Given the description of an element on the screen output the (x, y) to click on. 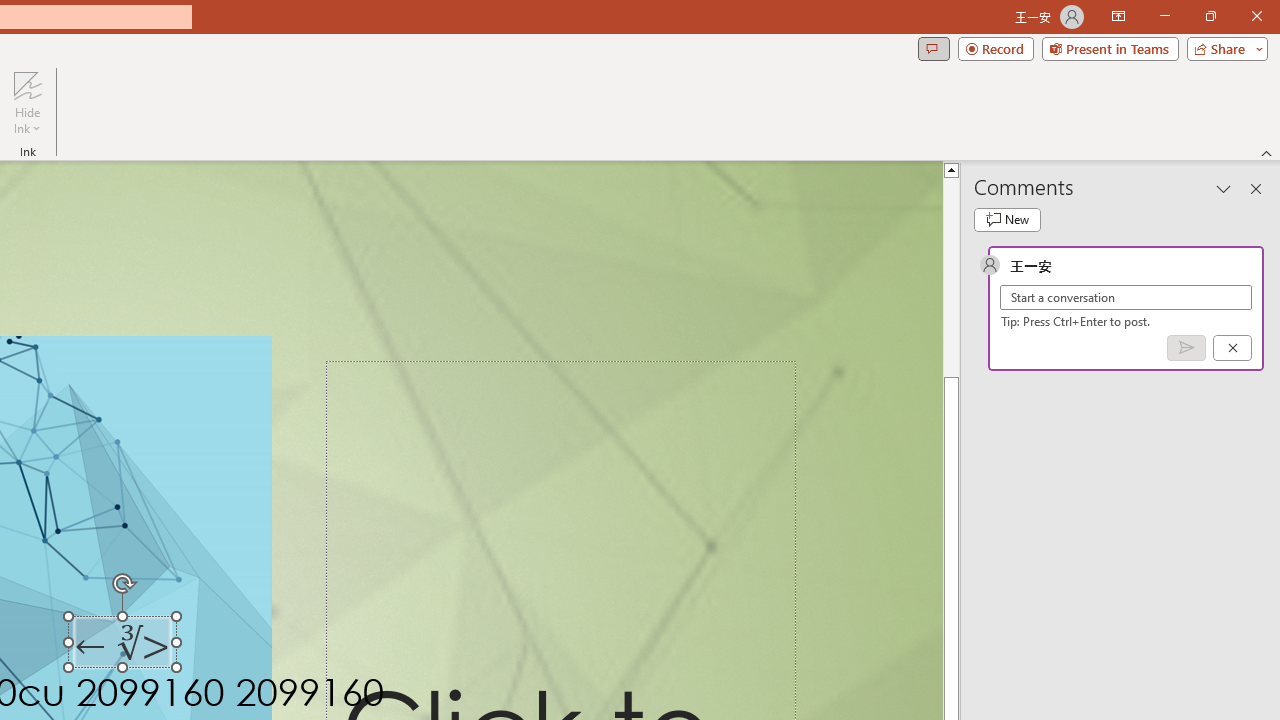
Post comment (Ctrl + Enter) (1186, 347)
Start a conversation (1126, 297)
TextBox 7 (123, 645)
